Given the description of an element on the screen output the (x, y) to click on. 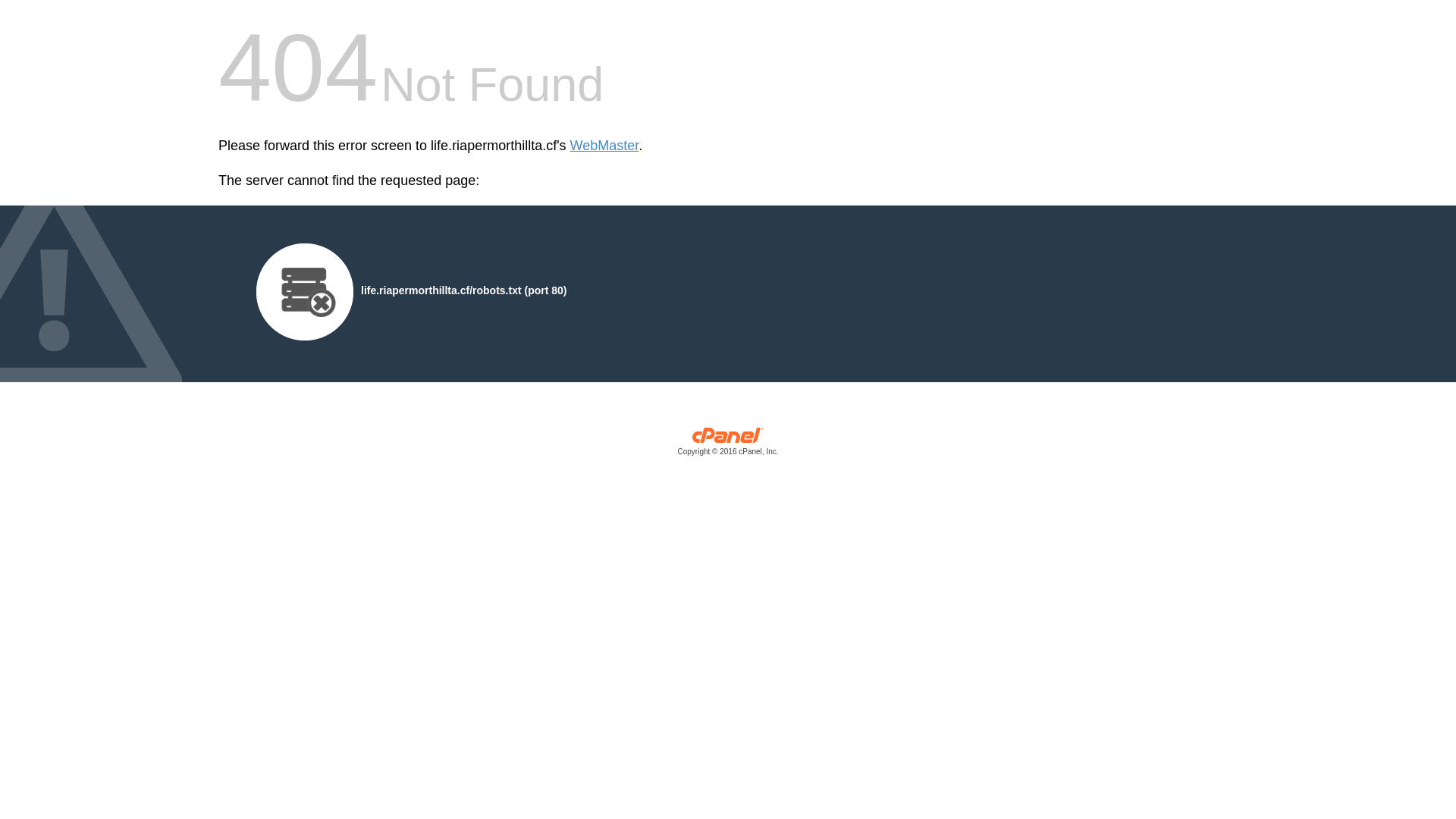
WebMaster Element type: text (604, 145)
